Given the description of an element on the screen output the (x, y) to click on. 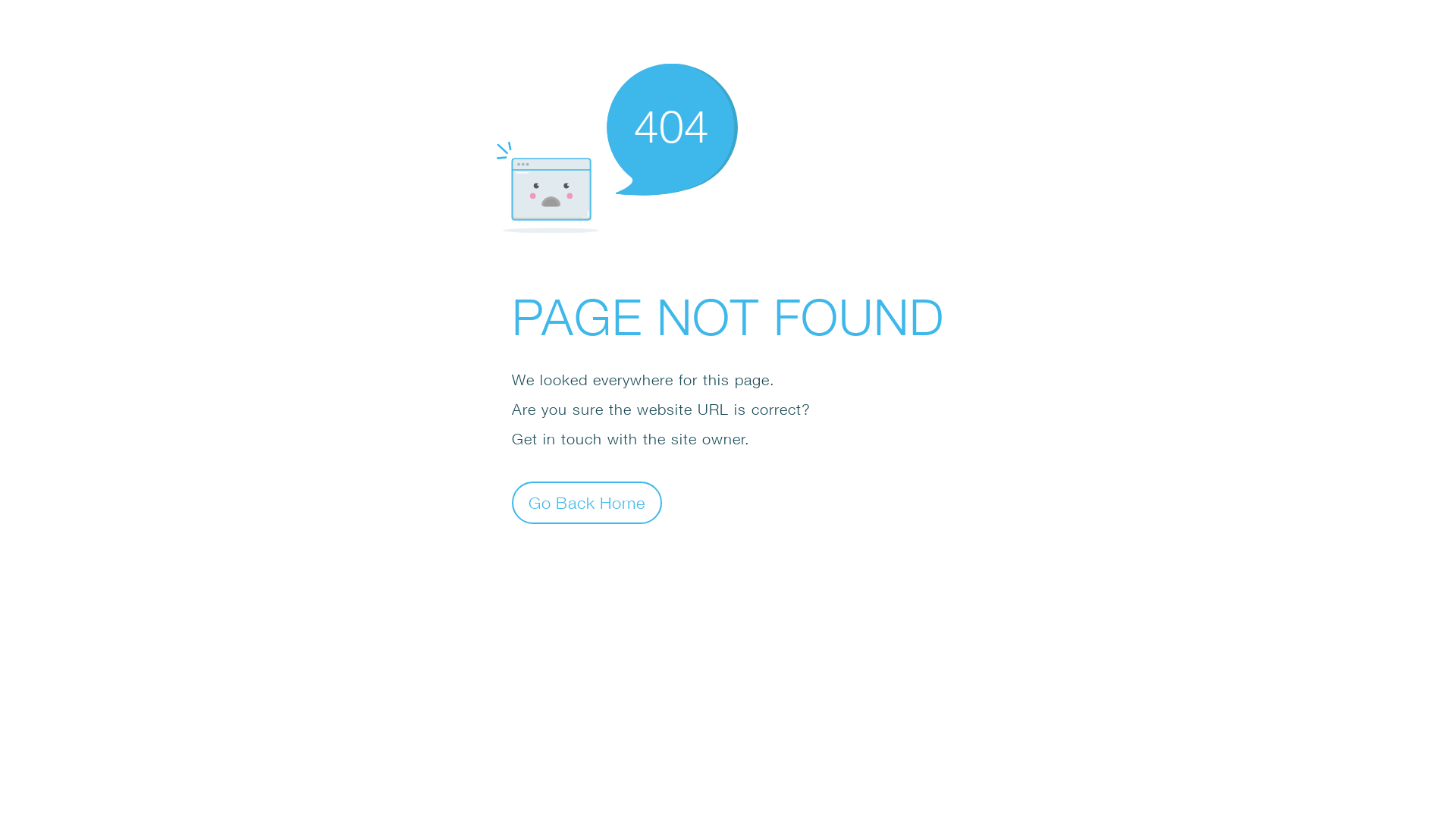
Go Back Home Element type: text (586, 502)
